Given the description of an element on the screen output the (x, y) to click on. 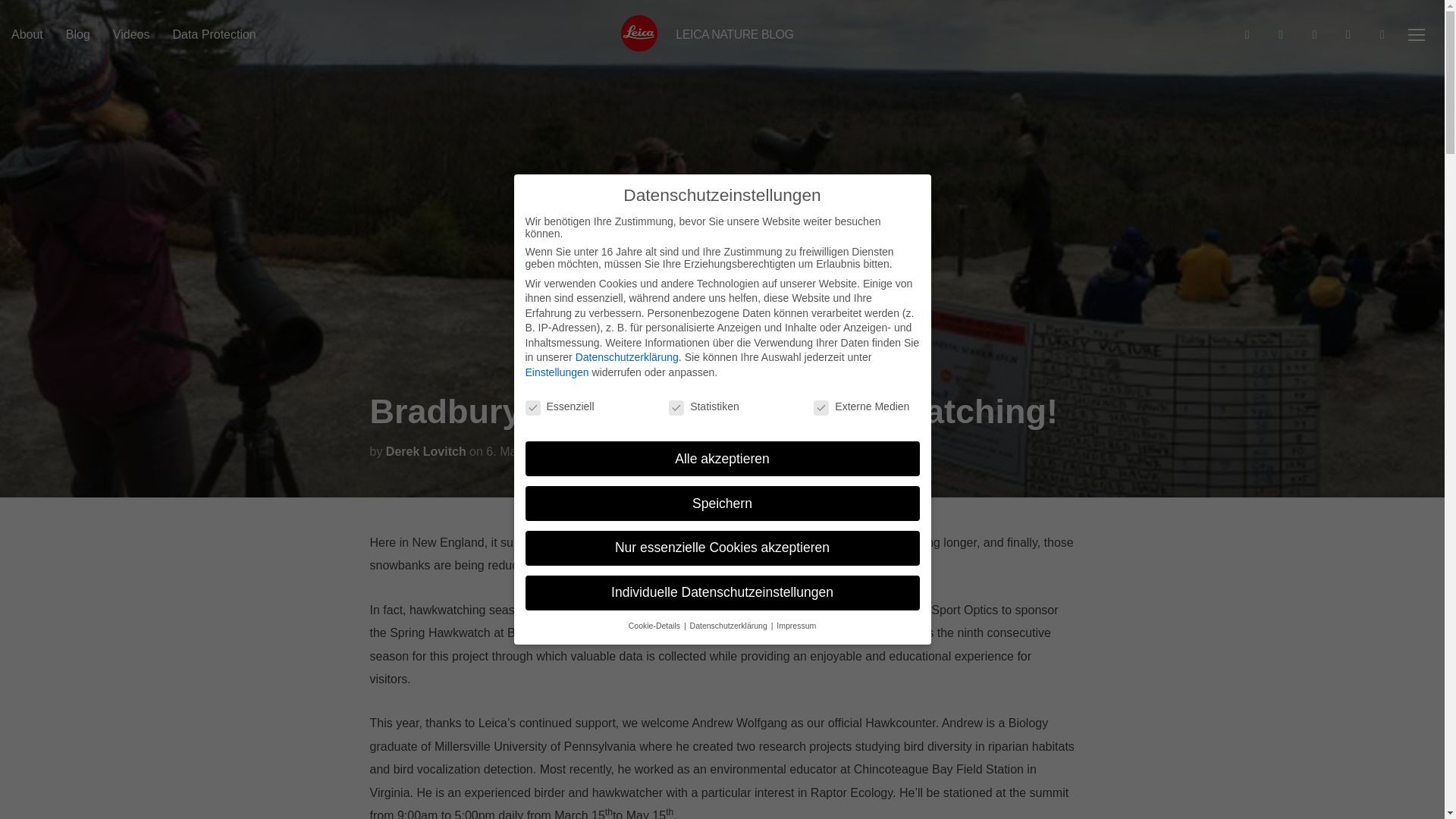
Twitter (1280, 33)
Posts by Derek Lovitch (425, 451)
Facebook (1246, 33)
Default Label (1347, 33)
Instagram (1314, 33)
